Given the description of an element on the screen output the (x, y) to click on. 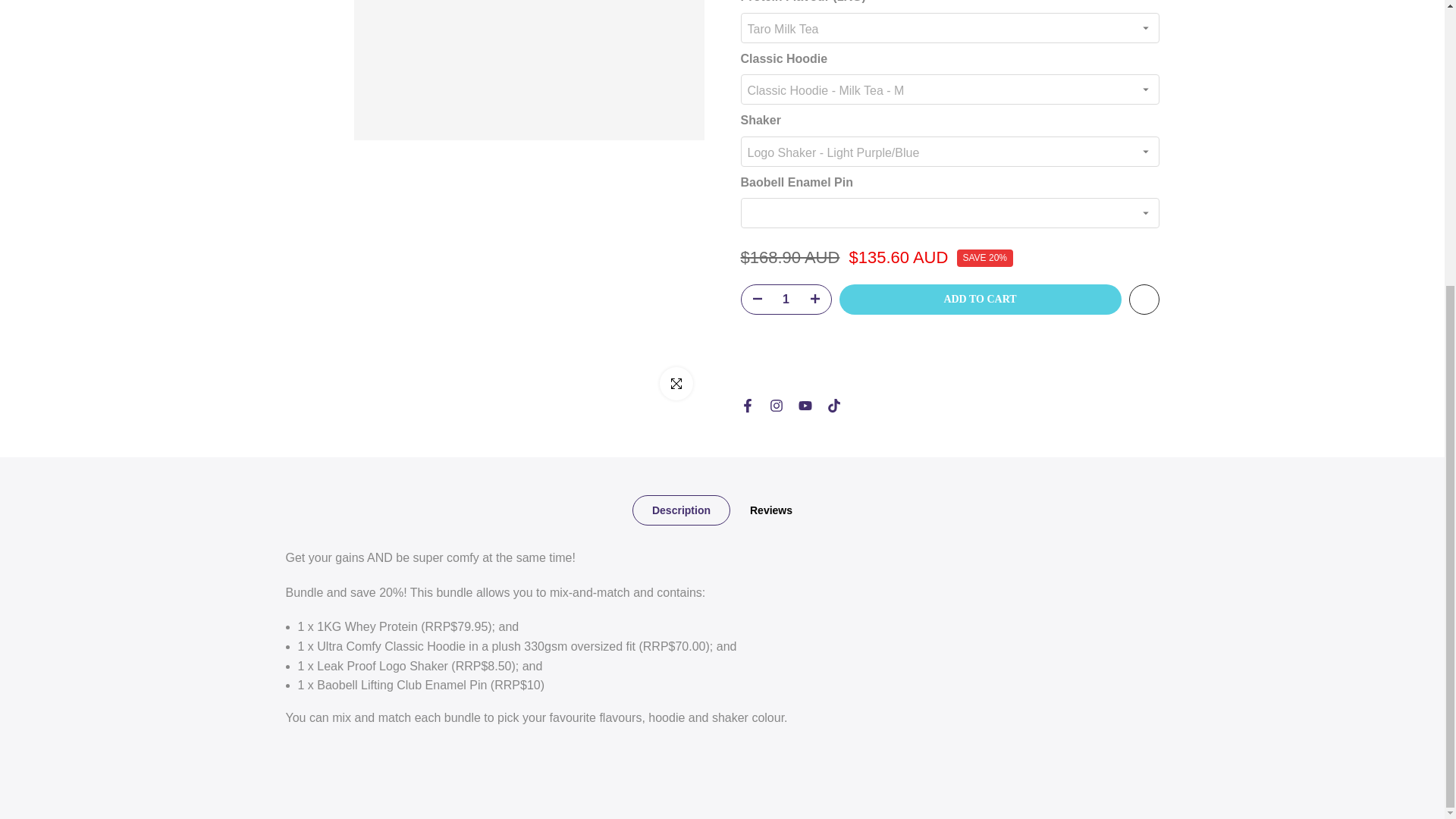
Follow on YouTube (803, 241)
Follow on Facebook (746, 241)
1 (786, 134)
Follow on Instagram (775, 241)
ADD TO CART (979, 134)
Follow on Tiktok (833, 241)
